Given the description of an element on the screen output the (x, y) to click on. 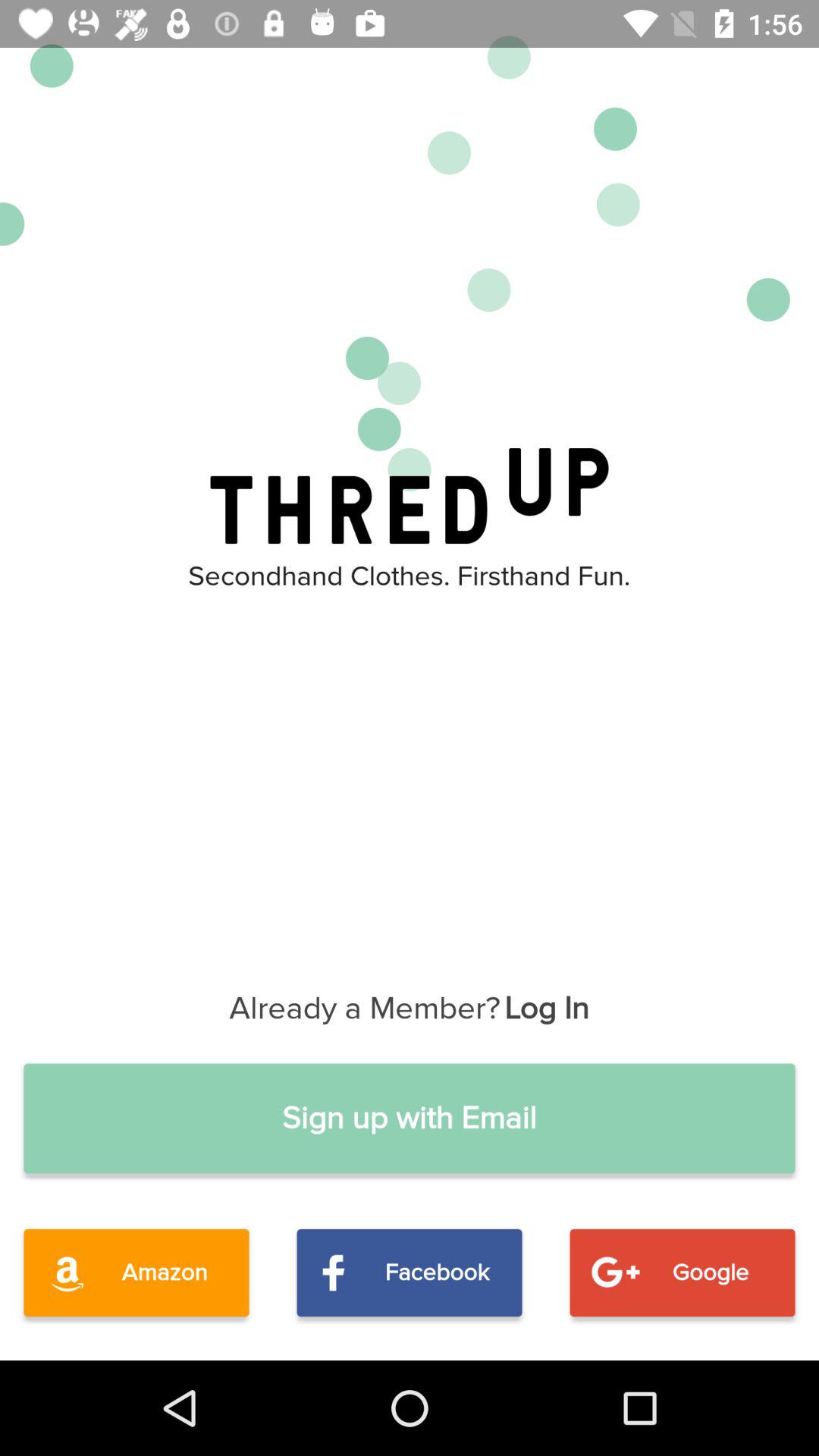
scroll to the facebook item (409, 1272)
